Given the description of an element on the screen output the (x, y) to click on. 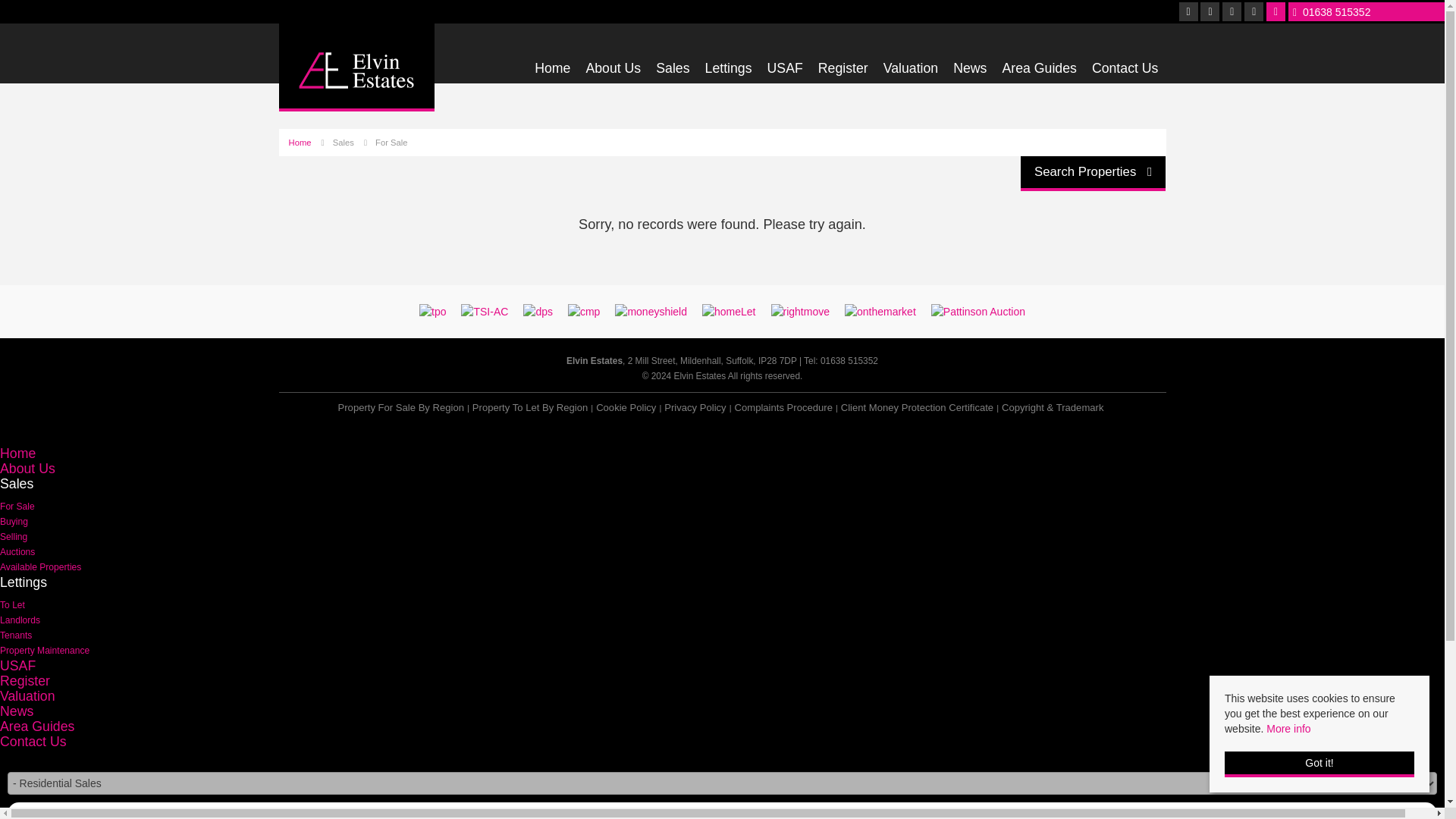
Area Guides (1038, 71)
News (970, 71)
USAF (785, 71)
About Us (612, 71)
Home (552, 71)
Register (842, 71)
Contact Us (1125, 71)
Valuation (911, 71)
